Given the description of an element on the screen output the (x, y) to click on. 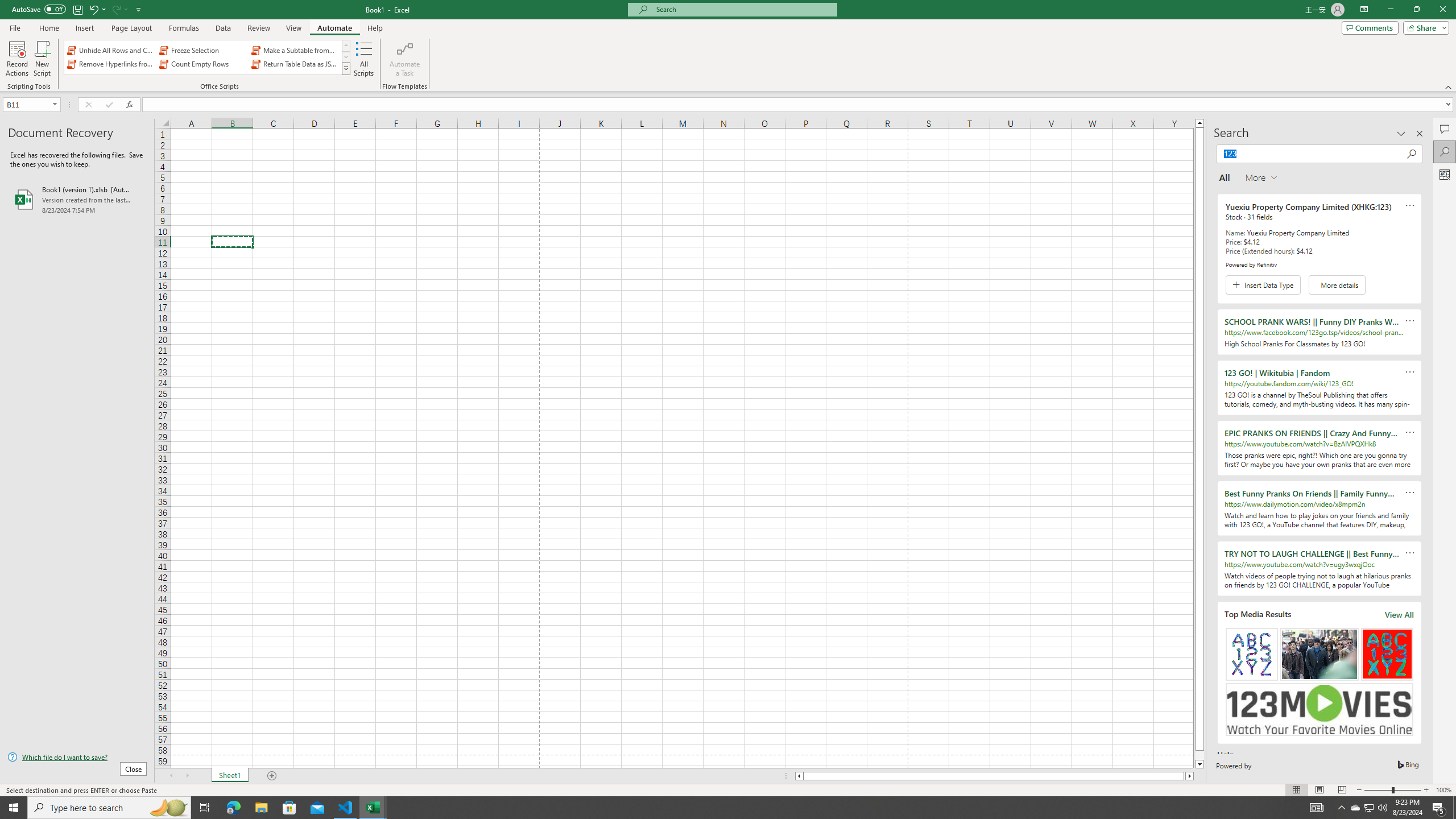
New Script (41, 58)
Record Actions (17, 58)
All Scripts (363, 58)
